Given the description of an element on the screen output the (x, y) to click on. 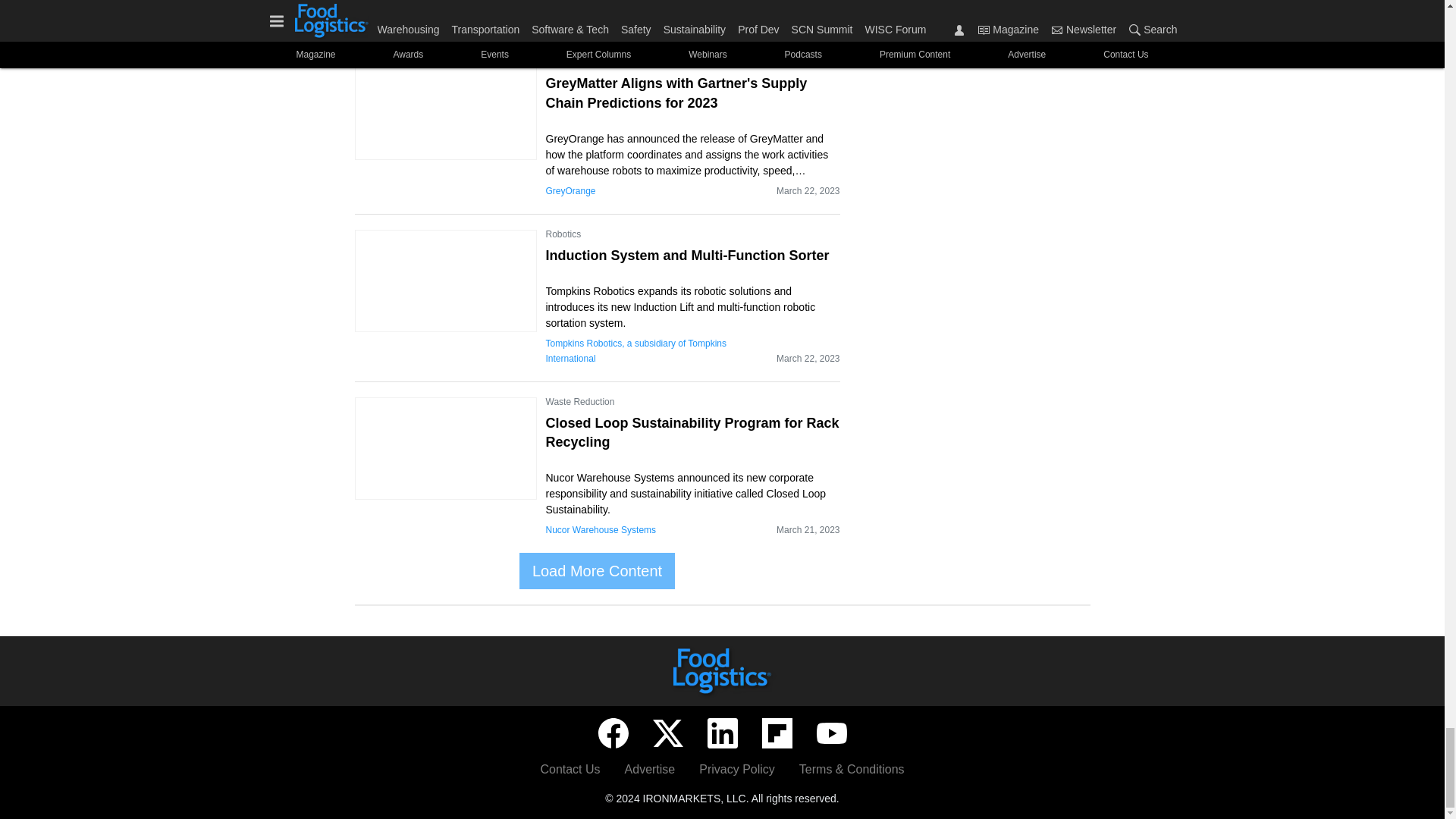
Flipboard icon (776, 733)
YouTube icon (830, 733)
Twitter X icon (667, 733)
LinkedIn icon (721, 733)
Facebook icon (611, 733)
